Given the description of an element on the screen output the (x, y) to click on. 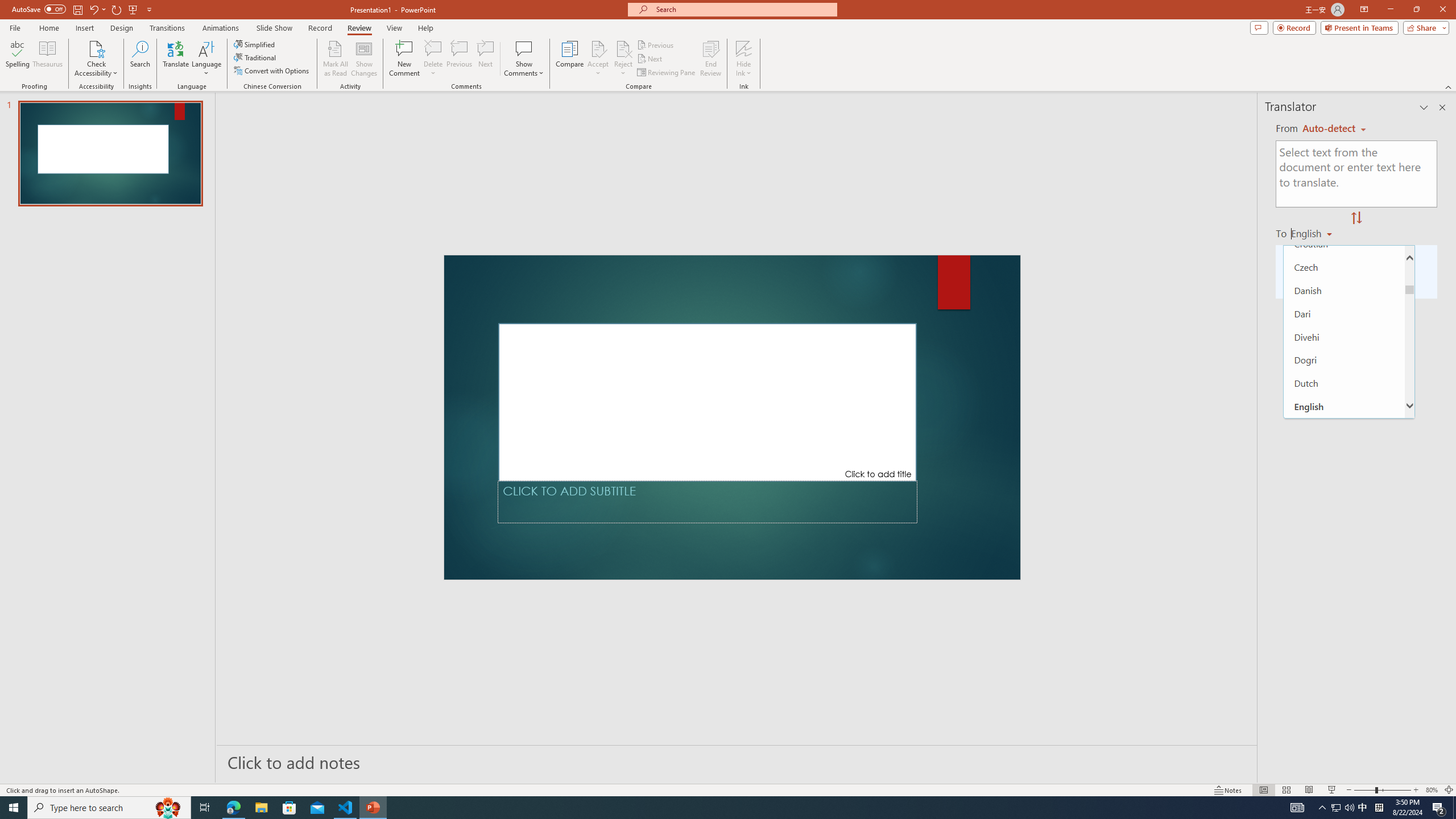
Previous (655, 44)
Swap "from" and "to" languages. (1355, 218)
Mark All as Read (335, 58)
Danish (1344, 289)
Microsoft search (742, 9)
Hide Ink (743, 48)
Greek (1344, 685)
